Given the description of an element on the screen output the (x, y) to click on. 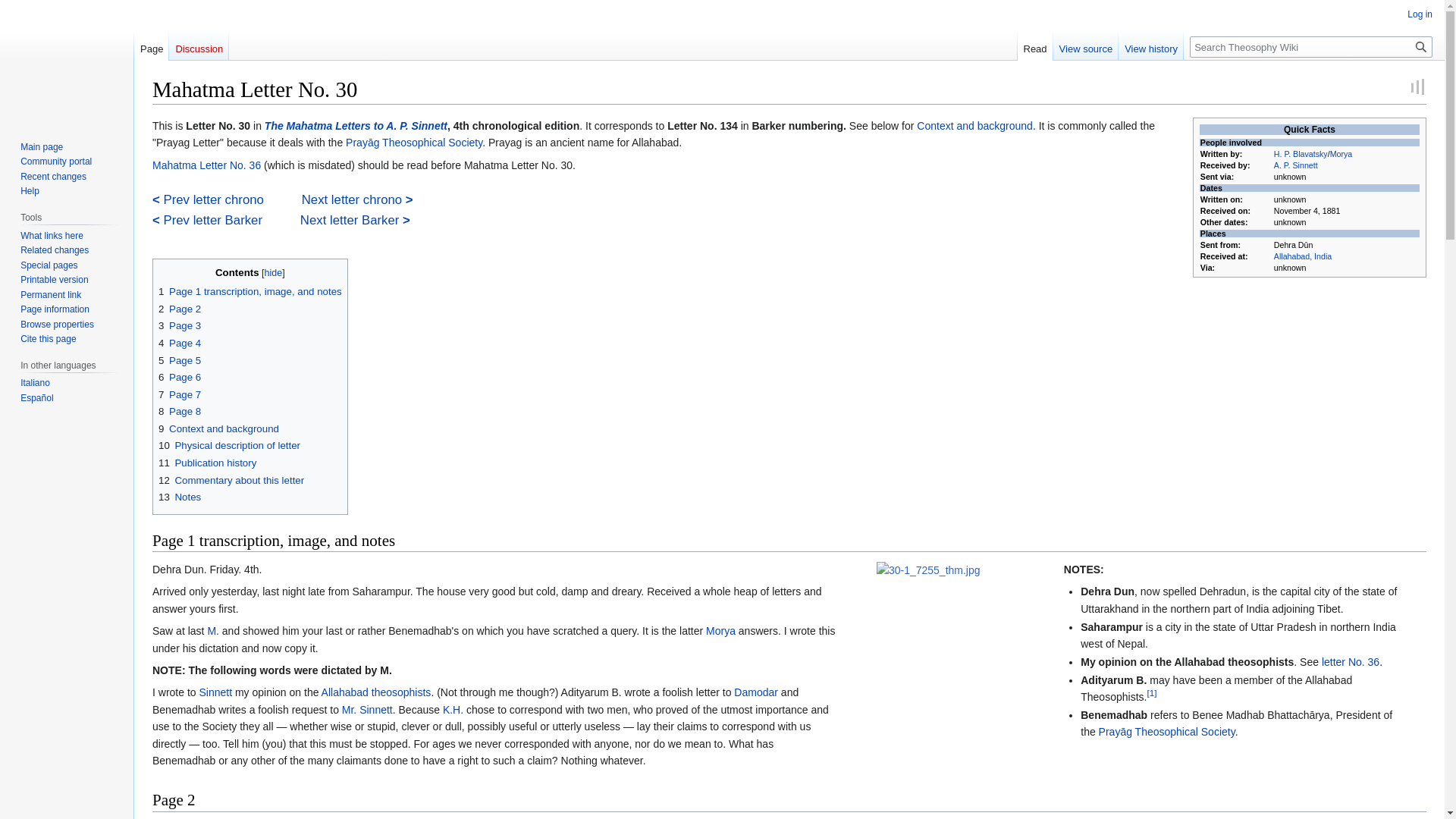
Morya (720, 630)
12 Commentary about this letter (231, 480)
13 Notes (179, 496)
Allahabad, India (1303, 256)
Morya (720, 630)
Go (1420, 46)
Go (1420, 46)
Allahabad, India (1303, 256)
Morya (212, 630)
2 Page 2 (179, 308)
